Given the description of an element on the screen output the (x, y) to click on. 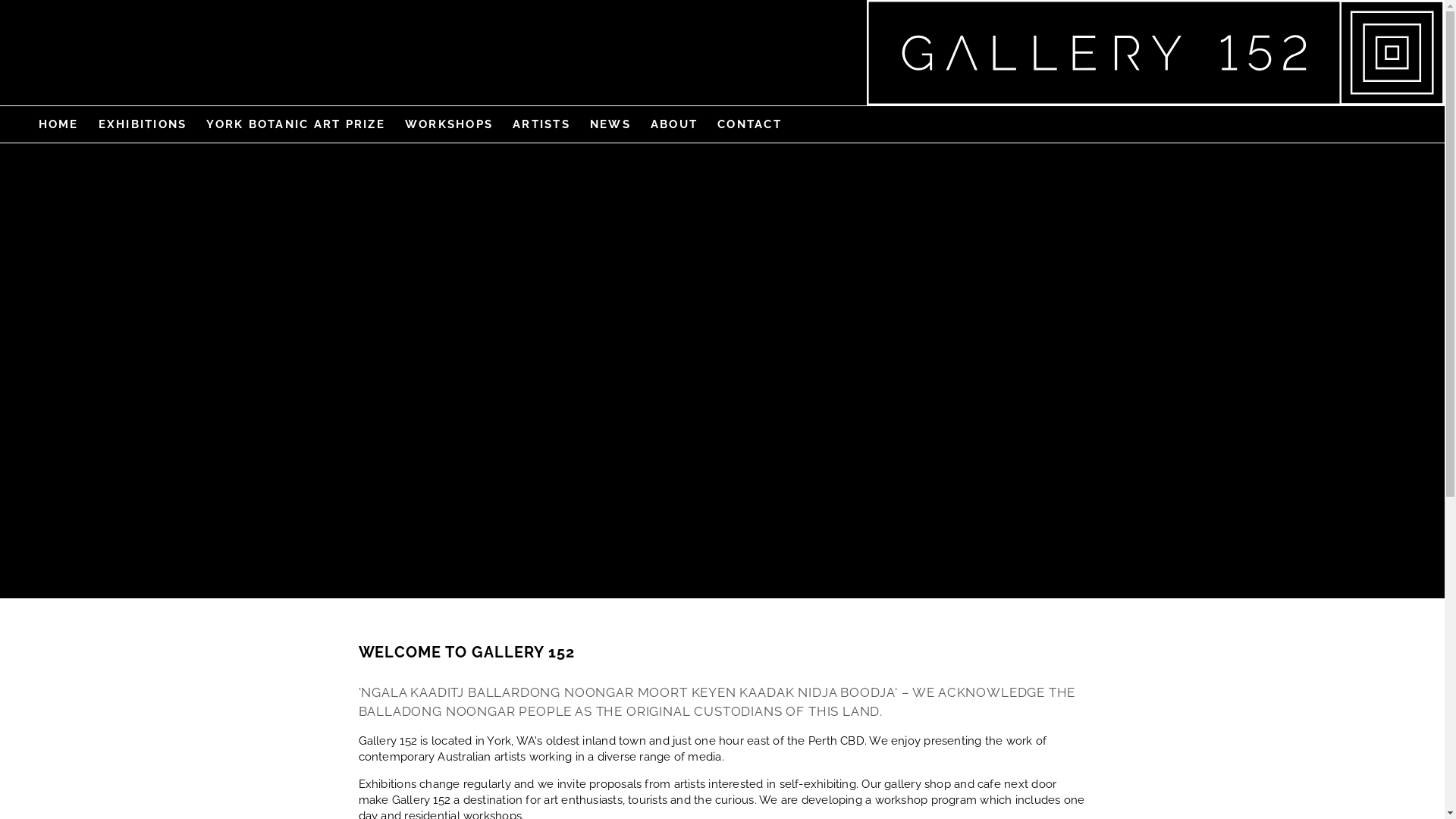
ABOUT Element type: text (673, 124)
EXHIBITIONS Element type: text (141, 124)
WORKSHOPS Element type: text (448, 124)
NEWS Element type: text (610, 124)
HOME Element type: text (58, 124)
ARTISTS Element type: text (541, 124)
YORK BOTANIC ART PRIZE Element type: text (295, 124)
CONTACT Element type: text (749, 124)
